Given the description of an element on the screen output the (x, y) to click on. 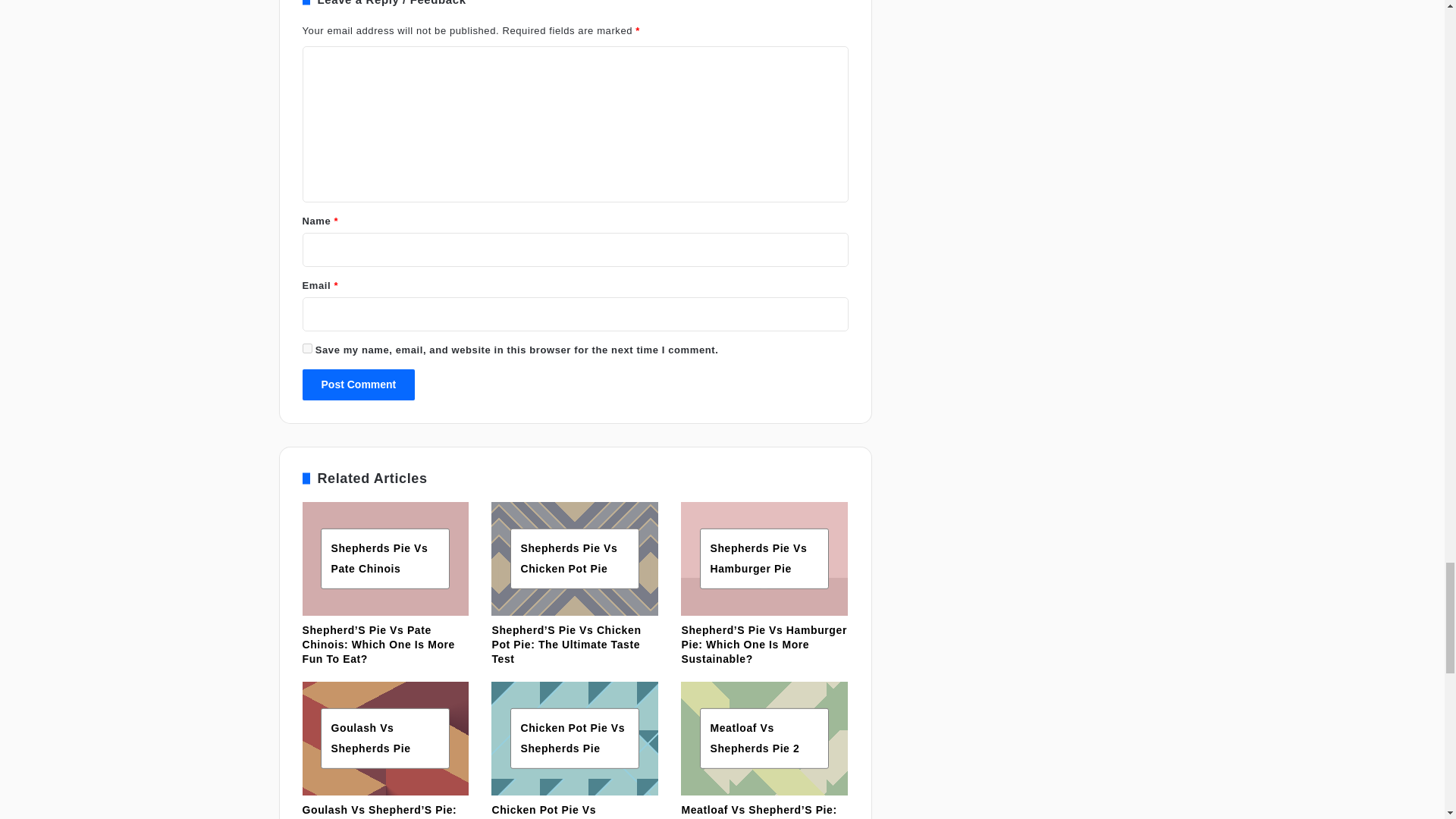
yes (306, 347)
Post Comment (357, 384)
